Given the description of an element on the screen output the (x, y) to click on. 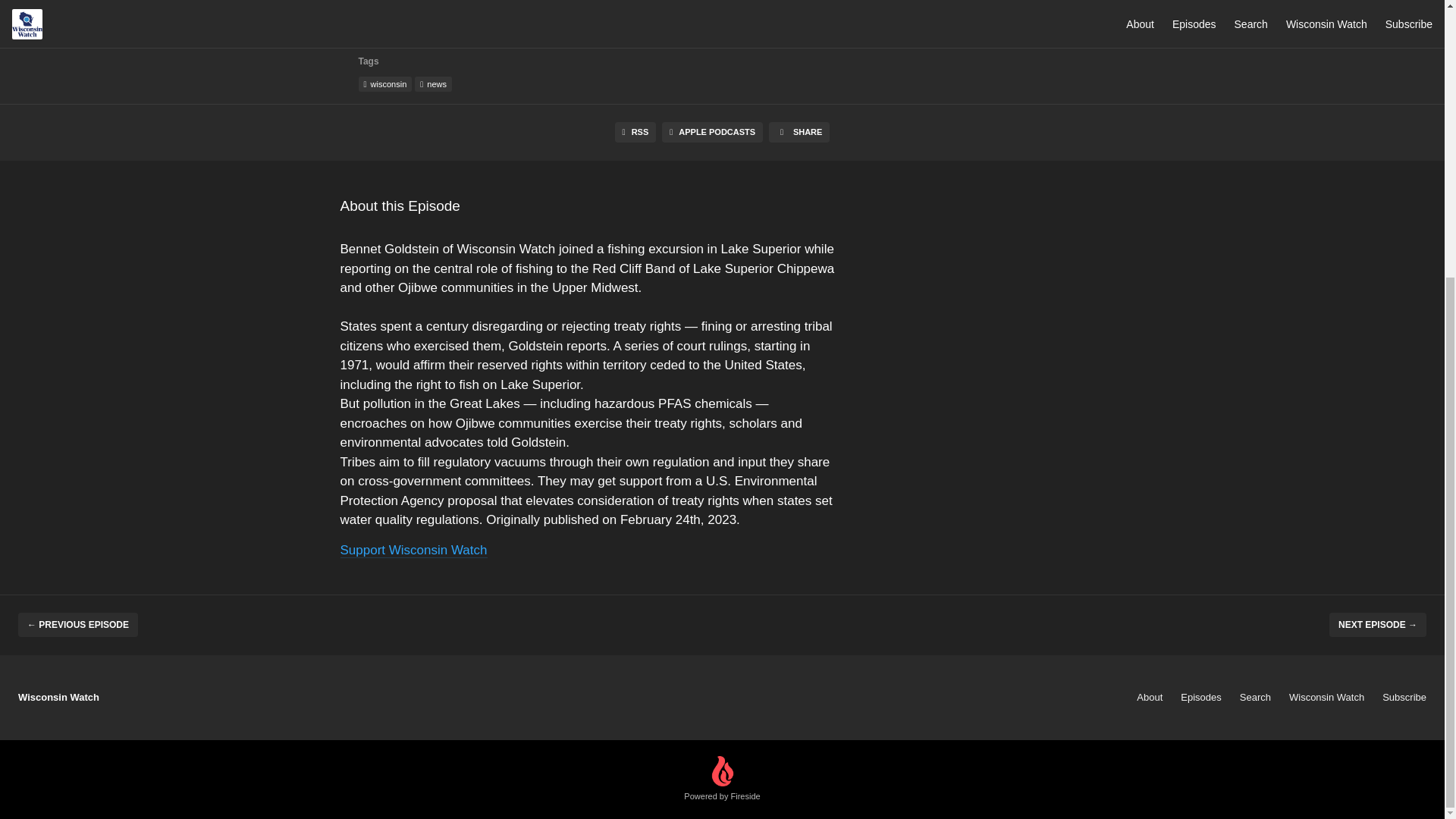
Episodes (1200, 696)
RSS (635, 132)
SHARE (798, 132)
Wisconsin Watch (1326, 696)
Support Wisconsin Watch (412, 549)
Powered by Fireside (722, 779)
news (432, 83)
Subscribe (1403, 696)
About (1149, 696)
wisconsin (385, 83)
Search (1255, 696)
APPLE PODCASTS (712, 132)
